Given the description of an element on the screen output the (x, y) to click on. 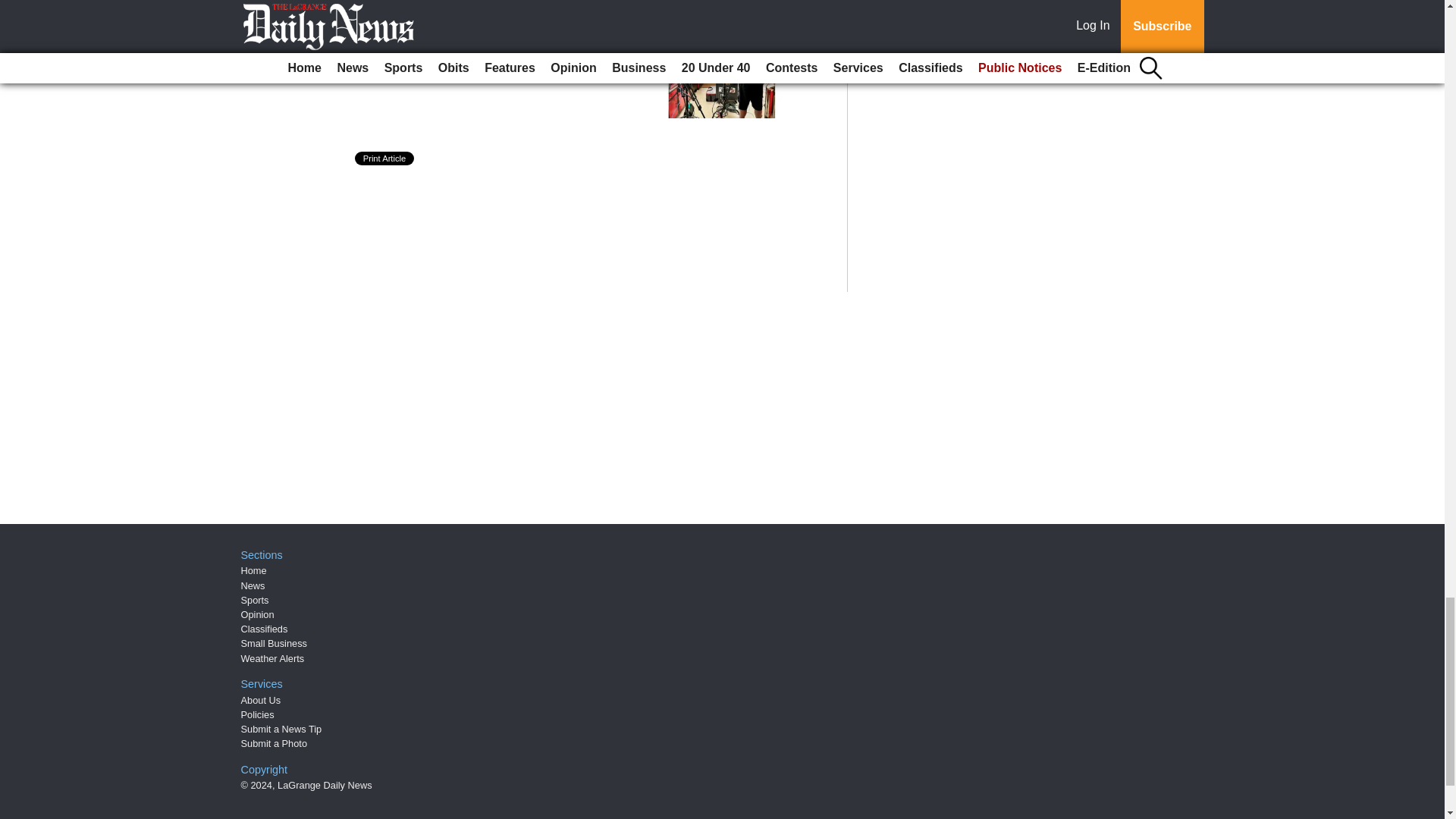
Fried Chicken Day: A LaGrange Movie (490, 34)
Fried Chicken Day: A LaGrange Movie (490, 34)
Print Article (384, 158)
Home (253, 570)
